Given the description of an element on the screen output the (x, y) to click on. 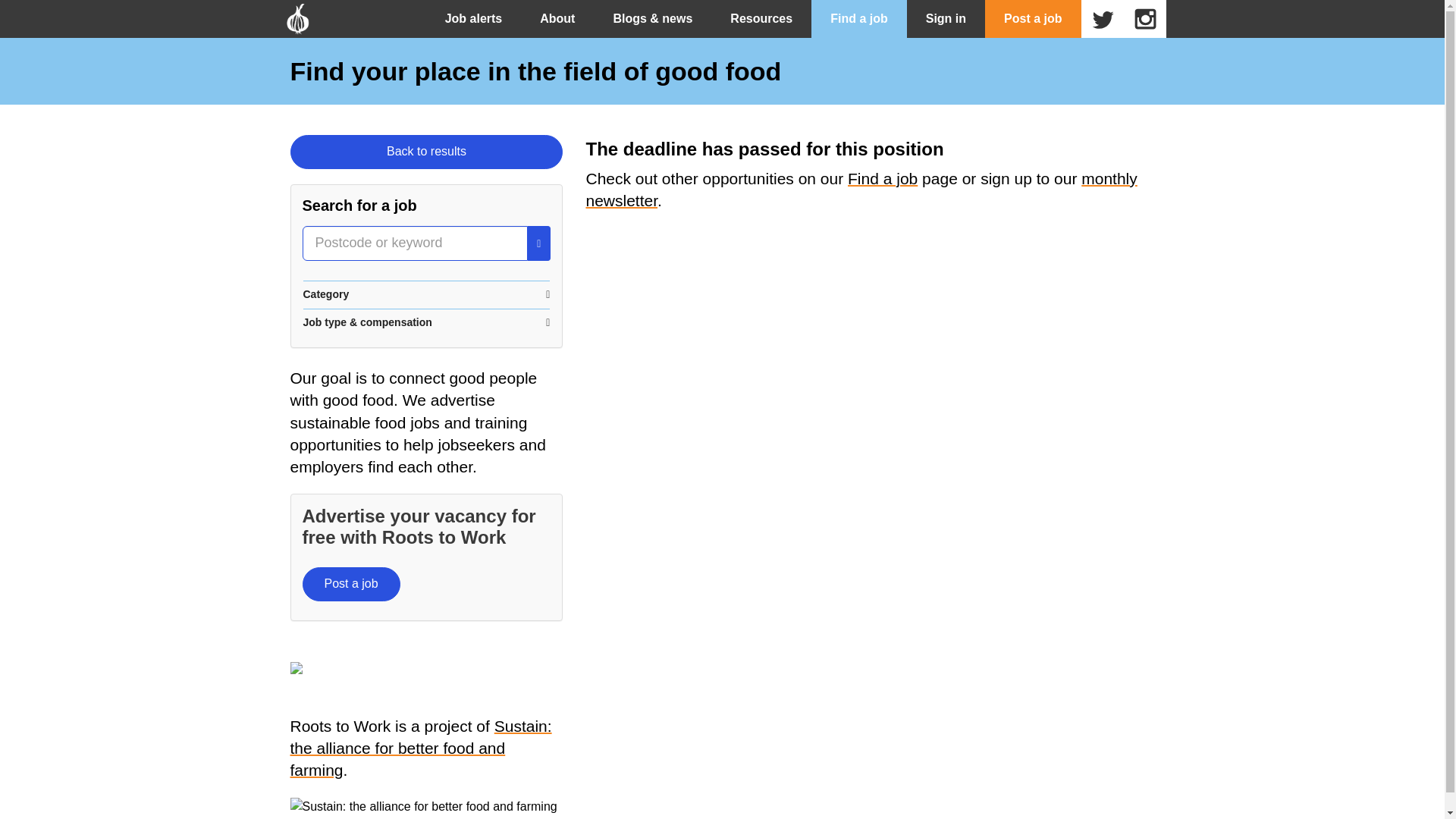
About (557, 18)
Post a job (1032, 18)
Sign in (946, 18)
Post a job (349, 584)
Sustain: the alliance for better food and farming (420, 748)
Sustain: the alliance for better food and farming (422, 806)
Resources (760, 18)
Find a job (882, 178)
monthly newsletter (861, 189)
Find a job (858, 18)
Back to results (425, 151)
Category (426, 294)
Job alerts (473, 18)
